Given the description of an element on the screen output the (x, y) to click on. 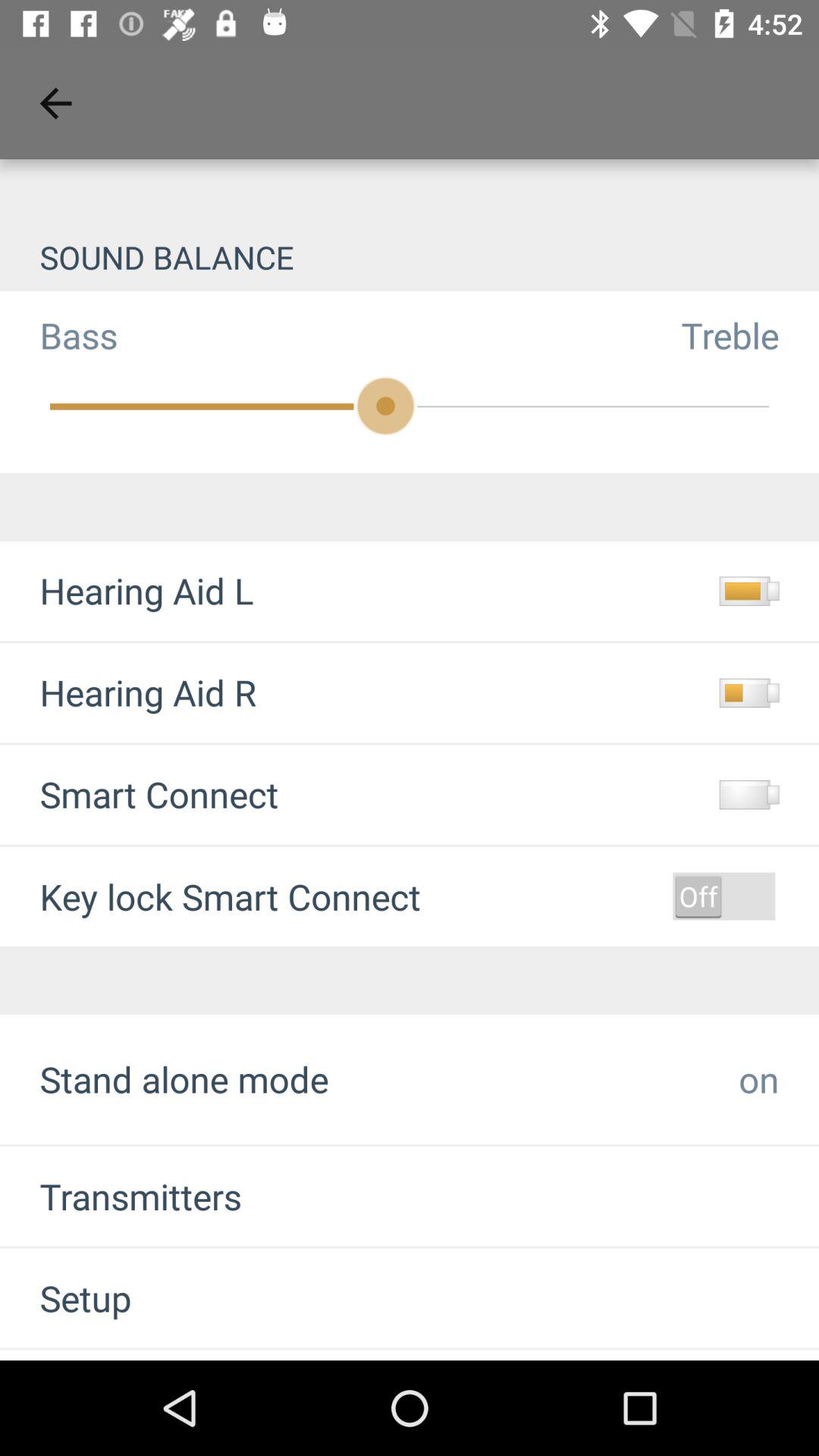
swipe until language item (98, 1355)
